Given the description of an element on the screen output the (x, y) to click on. 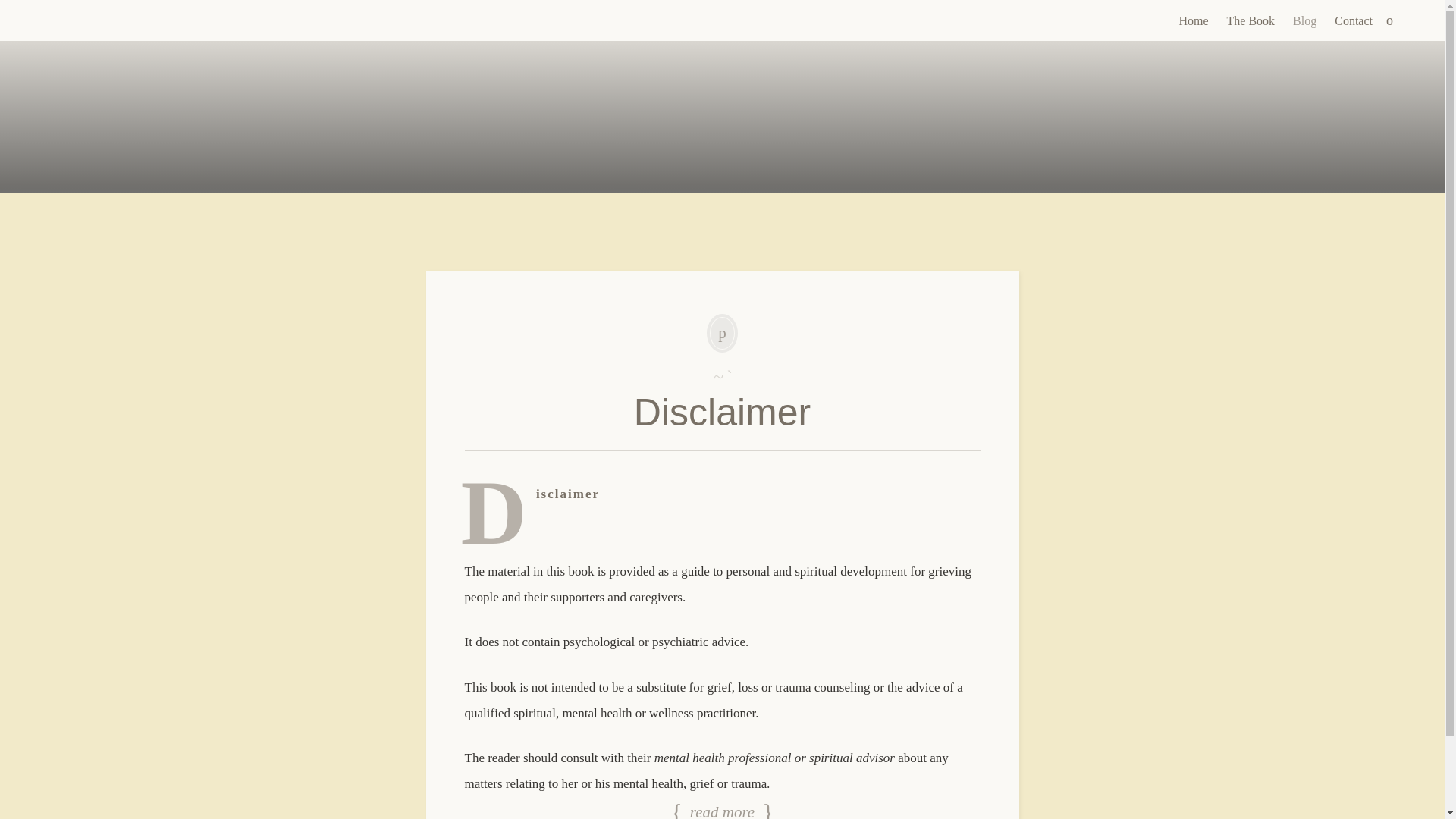
Disclaimer (721, 412)
Search (11, 9)
read more (721, 807)
Home (1192, 21)
Blog (1304, 21)
The Book (1251, 21)
Contact (1353, 21)
